Given the description of an element on the screen output the (x, y) to click on. 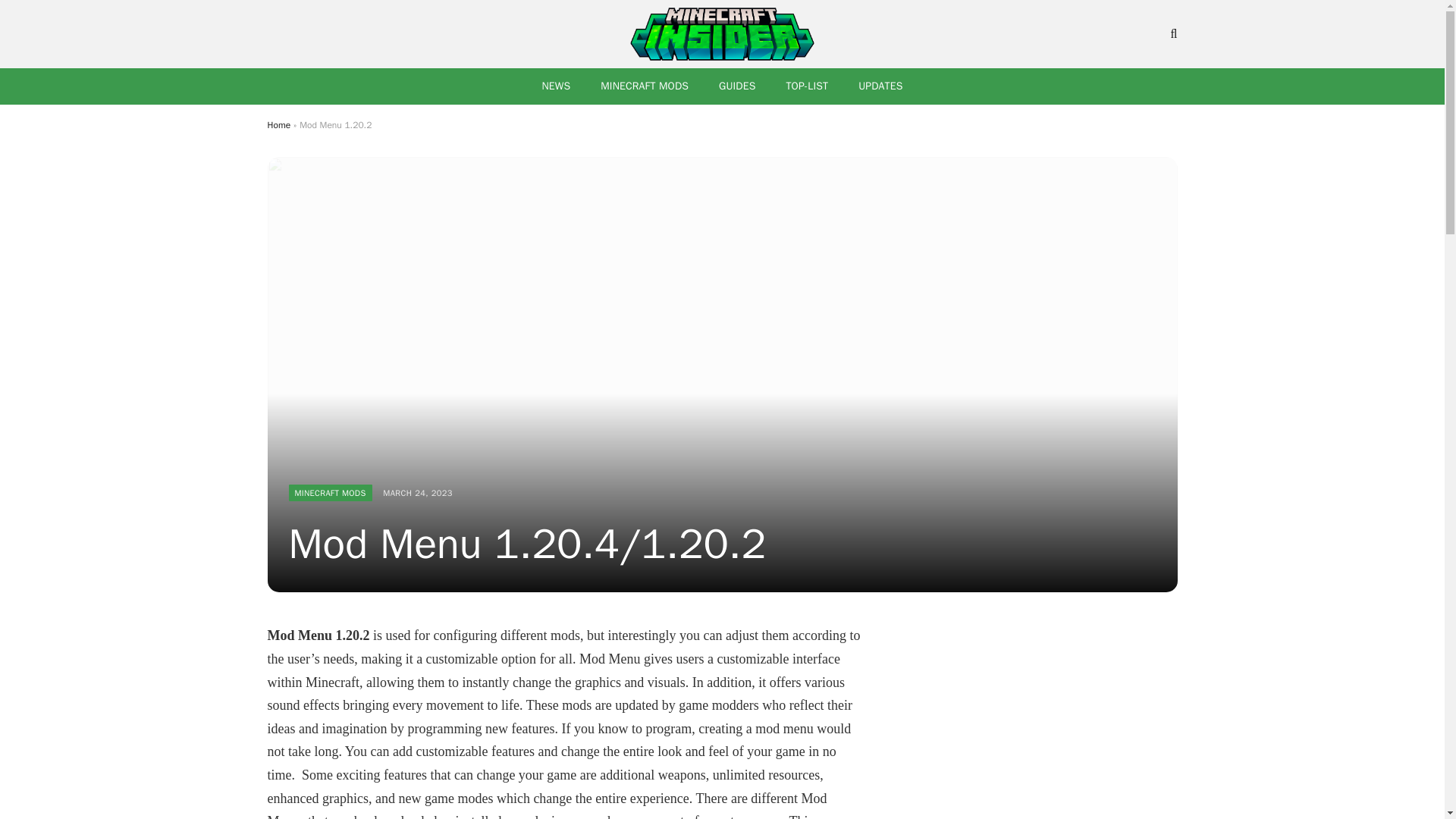
MINECRAFT MODS (644, 85)
Home (277, 124)
GUIDES (736, 85)
NEWS (555, 85)
MINECRAFT MODS (329, 492)
UPDATES (880, 85)
TOP-LIST (806, 85)
Minecraft Insider (722, 33)
